Given the description of an element on the screen output the (x, y) to click on. 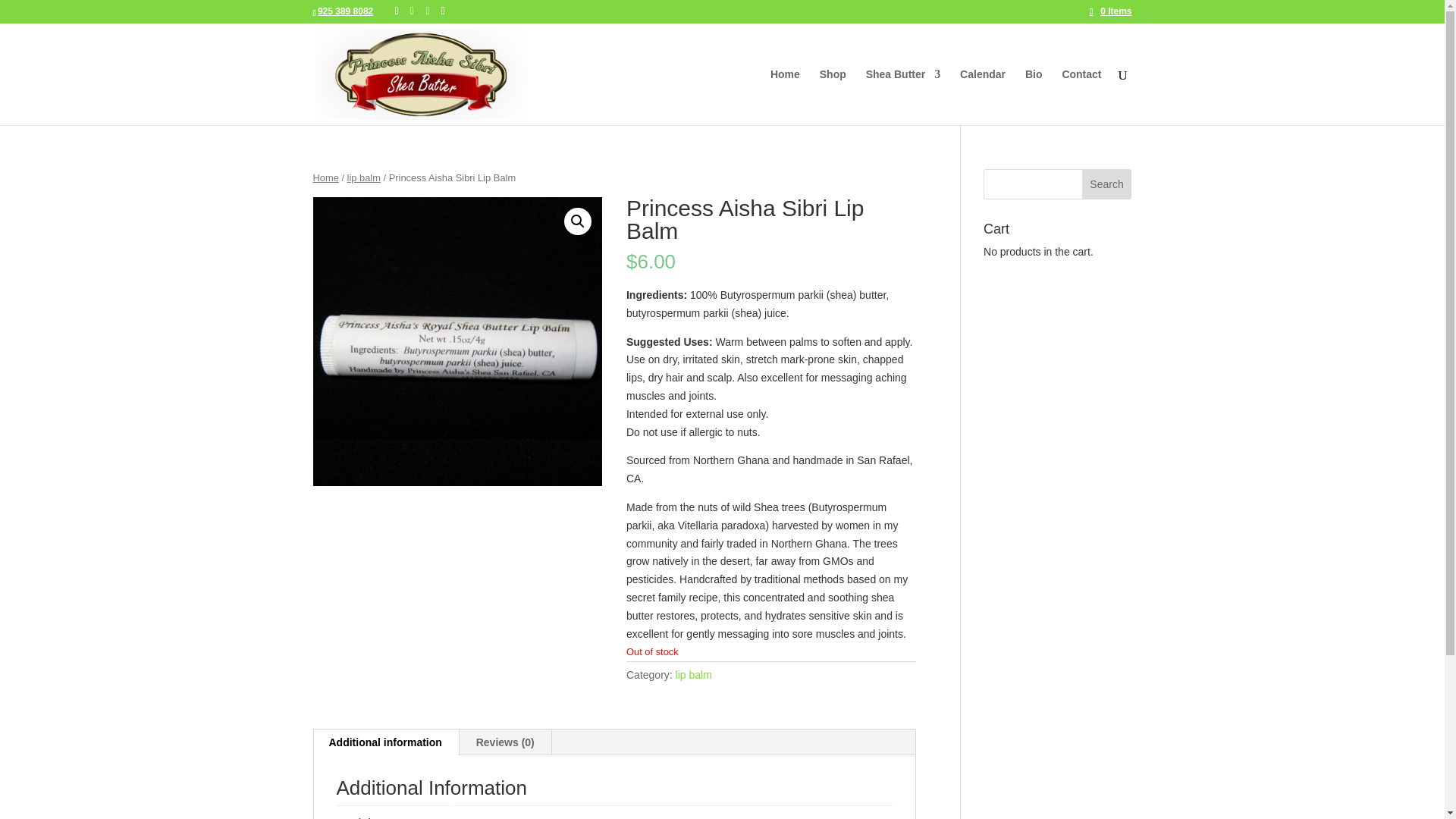
925 389 8082 (344, 10)
Home (325, 177)
Search (1106, 183)
Shea Butter (903, 96)
Additional information (385, 742)
lip balm (363, 177)
lip balm (693, 674)
0 Items (1110, 10)
